Given the description of an element on the screen output the (x, y) to click on. 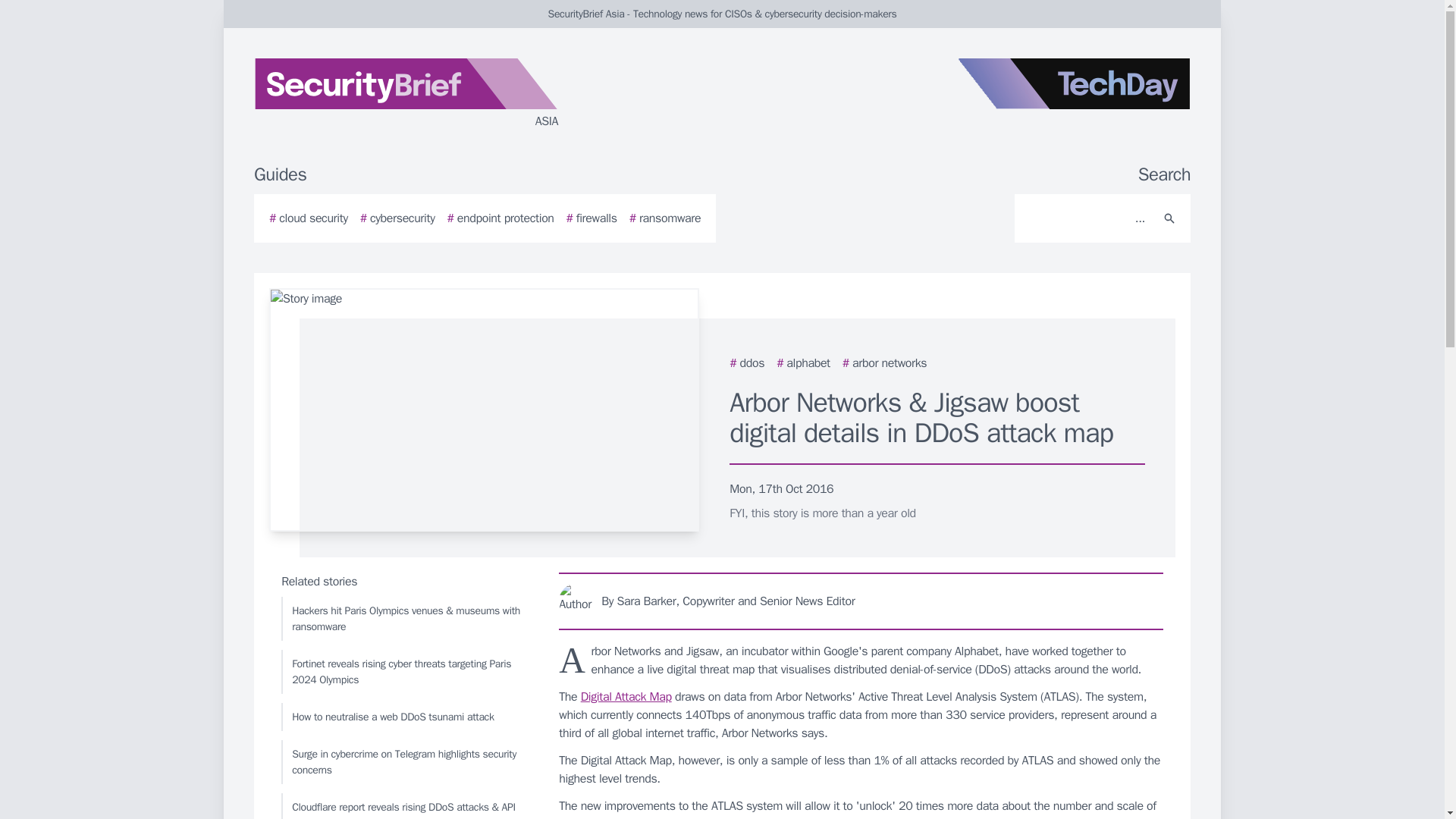
Surge in cybercrime on Telegram highlights security concerns (406, 761)
By Sara Barker, Copywriter and Senior News Editor (861, 601)
ASIA (435, 94)
How to neutralise a web DDoS tsunami attack (406, 716)
Digital Attack Map (625, 696)
